Given the description of an element on the screen output the (x, y) to click on. 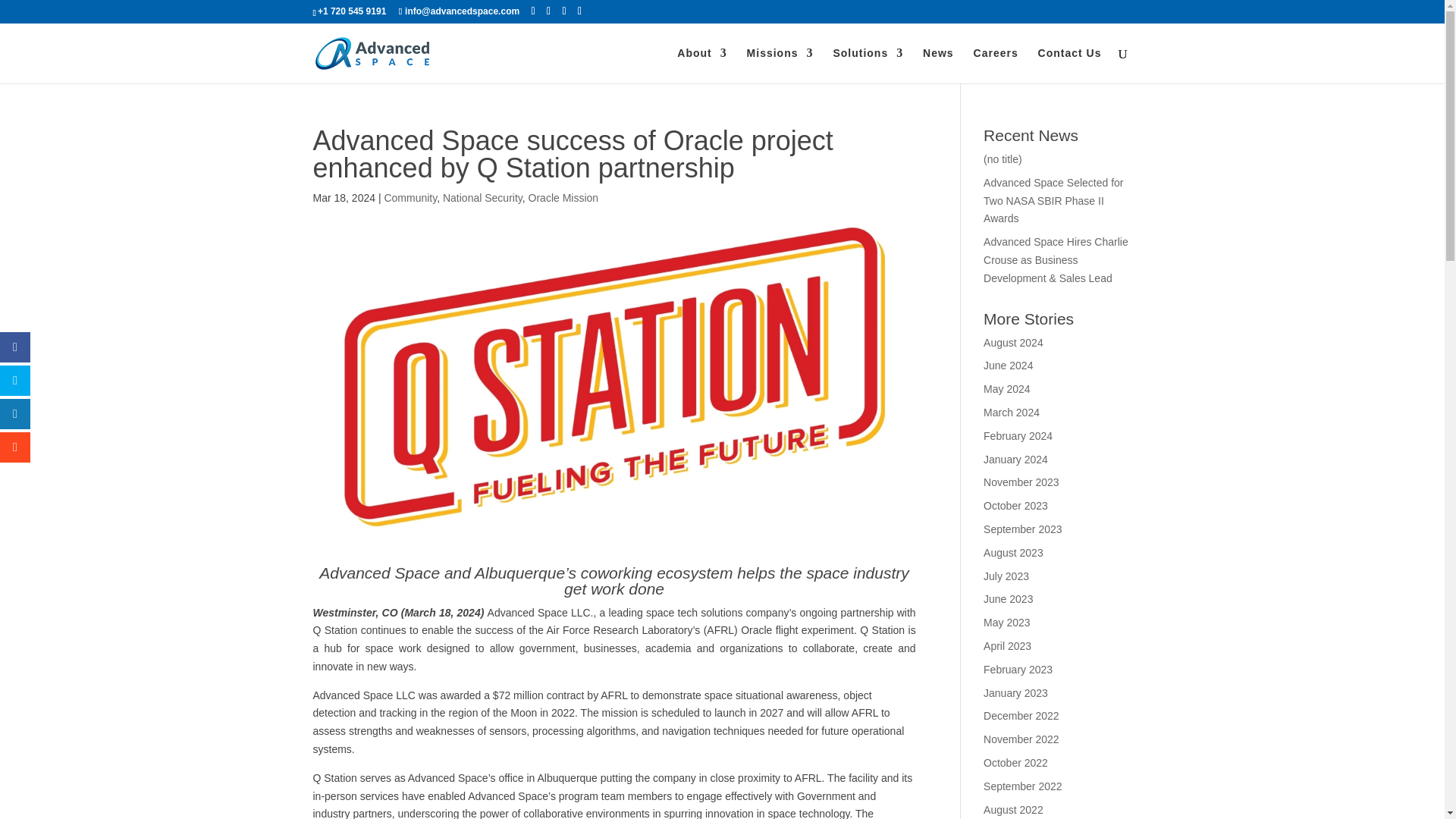
Missions (779, 65)
Solutions (867, 65)
Careers (995, 65)
About (701, 65)
Contact Us (1070, 65)
